Given the description of an element on the screen output the (x, y) to click on. 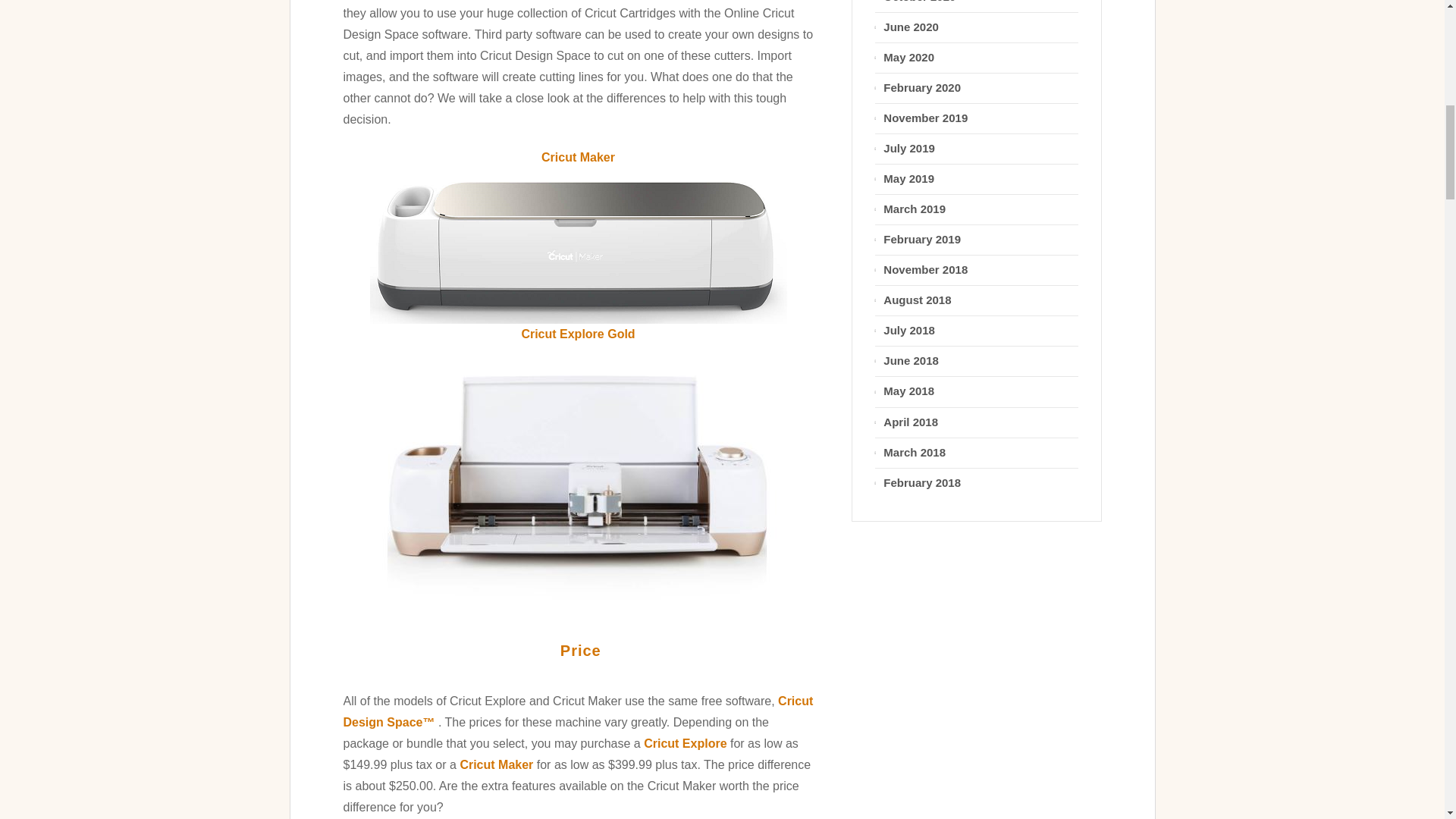
Cricut Maker (496, 764)
Cricut Maker (577, 245)
Cricut Explore (684, 743)
